Given the description of an element on the screen output the (x, y) to click on. 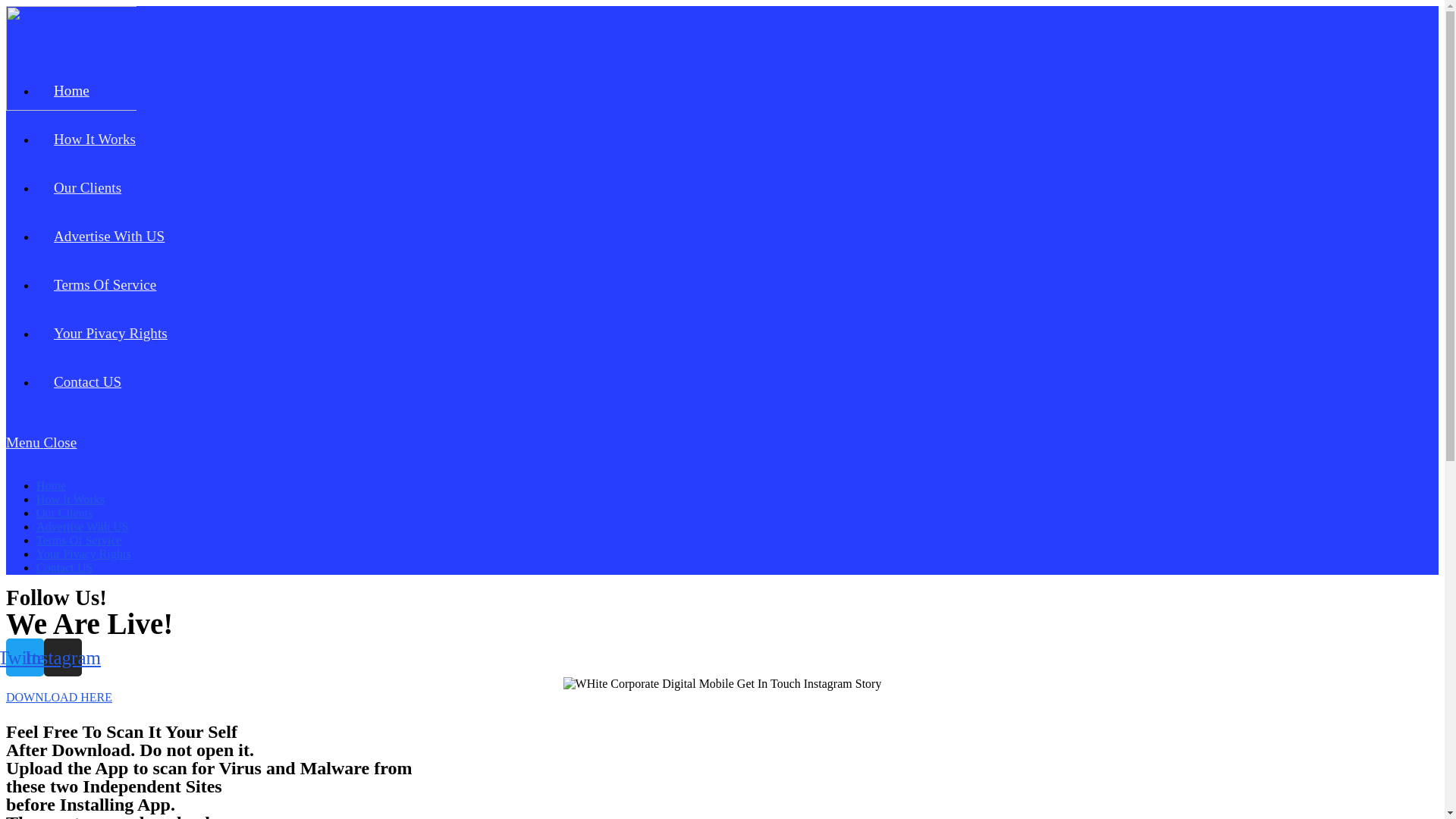
Your Pivacy Rights Element type: text (83, 553)
Advertise With US Element type: text (82, 526)
How It Works Element type: text (70, 498)
Advertise With US Element type: text (109, 236)
Your Pivacy Rights Element type: text (110, 333)
Contact US Element type: text (64, 567)
Menu Close Element type: text (722, 450)
Terms Of Service Element type: text (79, 539)
Instagram Element type: text (62, 657)
Home Element type: text (71, 90)
DOWNLOAD HERE Element type: text (59, 696)
Terms Of Service Element type: text (104, 284)
How It Works Element type: text (94, 139)
Our Clients Element type: text (87, 187)
Skip to content Element type: text (5, 5)
Twitter Element type: text (24, 657)
Contact US Element type: text (87, 381)
Home Element type: text (50, 485)
WHite Corporate Digital Mobile Get In Touch Instagram Story Element type: hover (722, 683)
Our Clients Element type: text (64, 512)
